Given the description of an element on the screen output the (x, y) to click on. 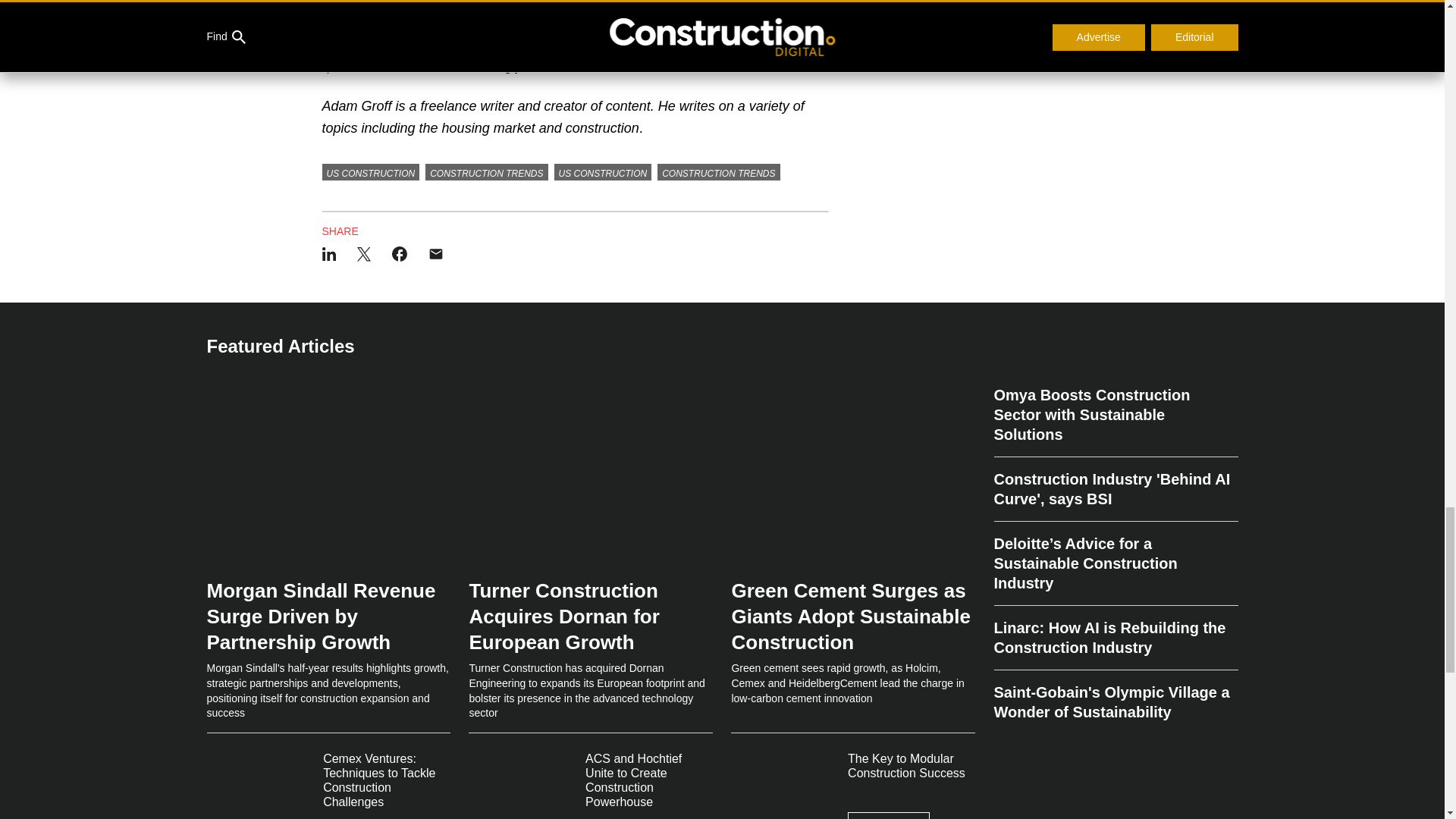
Linarc: How AI is Rebuilding the Construction Industry (1114, 638)
Omya Boosts Construction Sector with Sustainable Solutions (1114, 420)
US CONSTRUCTION (370, 171)
Saint-Gobain's Olympic Village a Wonder of Sustainability (1114, 695)
CONSTRUCTION TRENDS (718, 171)
CONSTRUCTION TRENDS (486, 171)
US CONSTRUCTION (603, 171)
Construction Industry 'Behind AI Curve', says BSI (1114, 489)
